Given the description of an element on the screen output the (x, y) to click on. 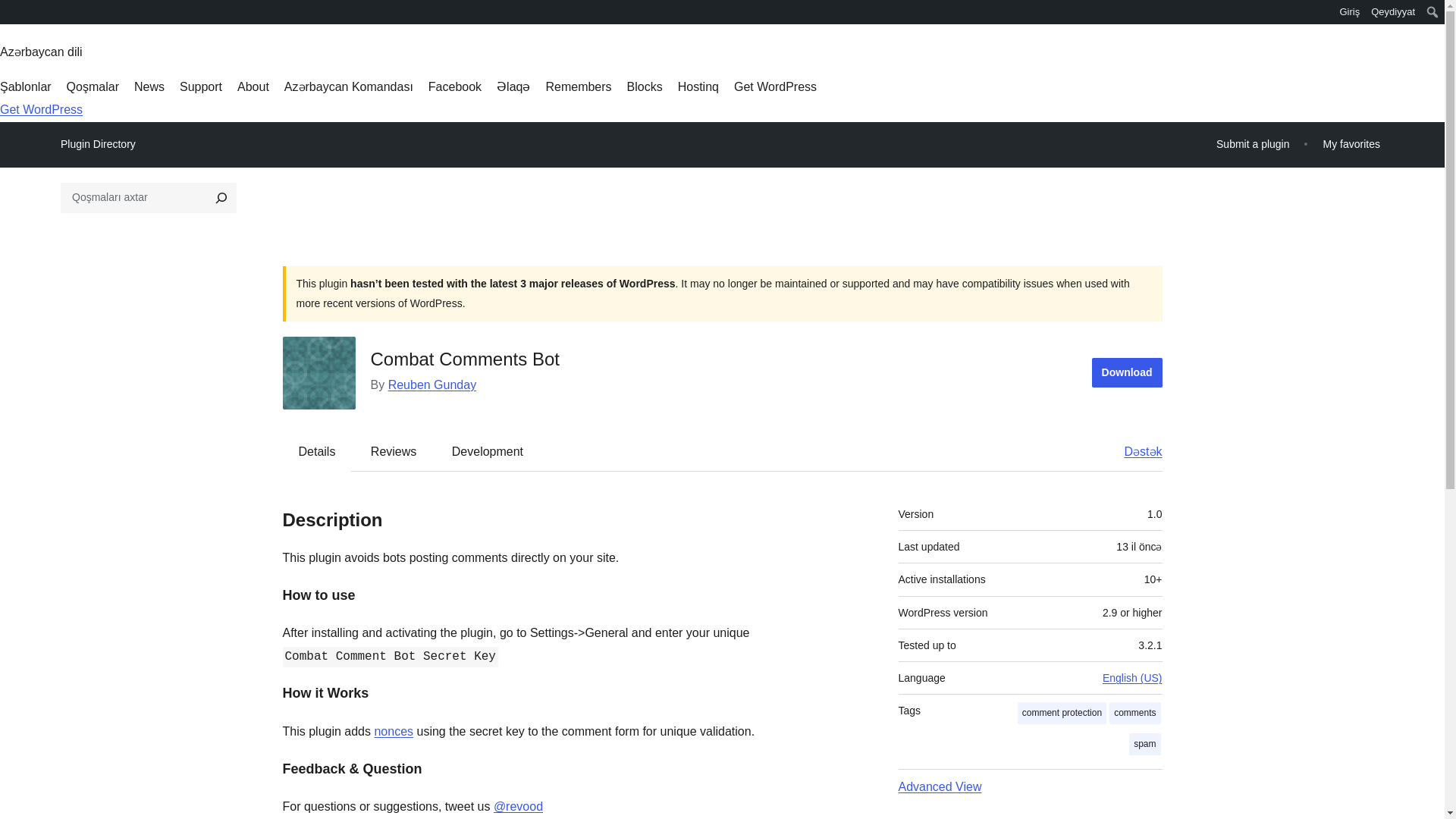
Details (316, 451)
About (253, 87)
WordPress.org (10, 16)
Plugin Directory (97, 143)
Qeydiyyat (1393, 12)
Download (1126, 372)
Reviews (392, 451)
Hostinq (698, 87)
Reuben Gunday (432, 384)
Development (487, 451)
Remembers (577, 87)
nonces (393, 730)
Get WordPress (774, 87)
nonces (393, 730)
News (148, 87)
